Given the description of an element on the screen output the (x, y) to click on. 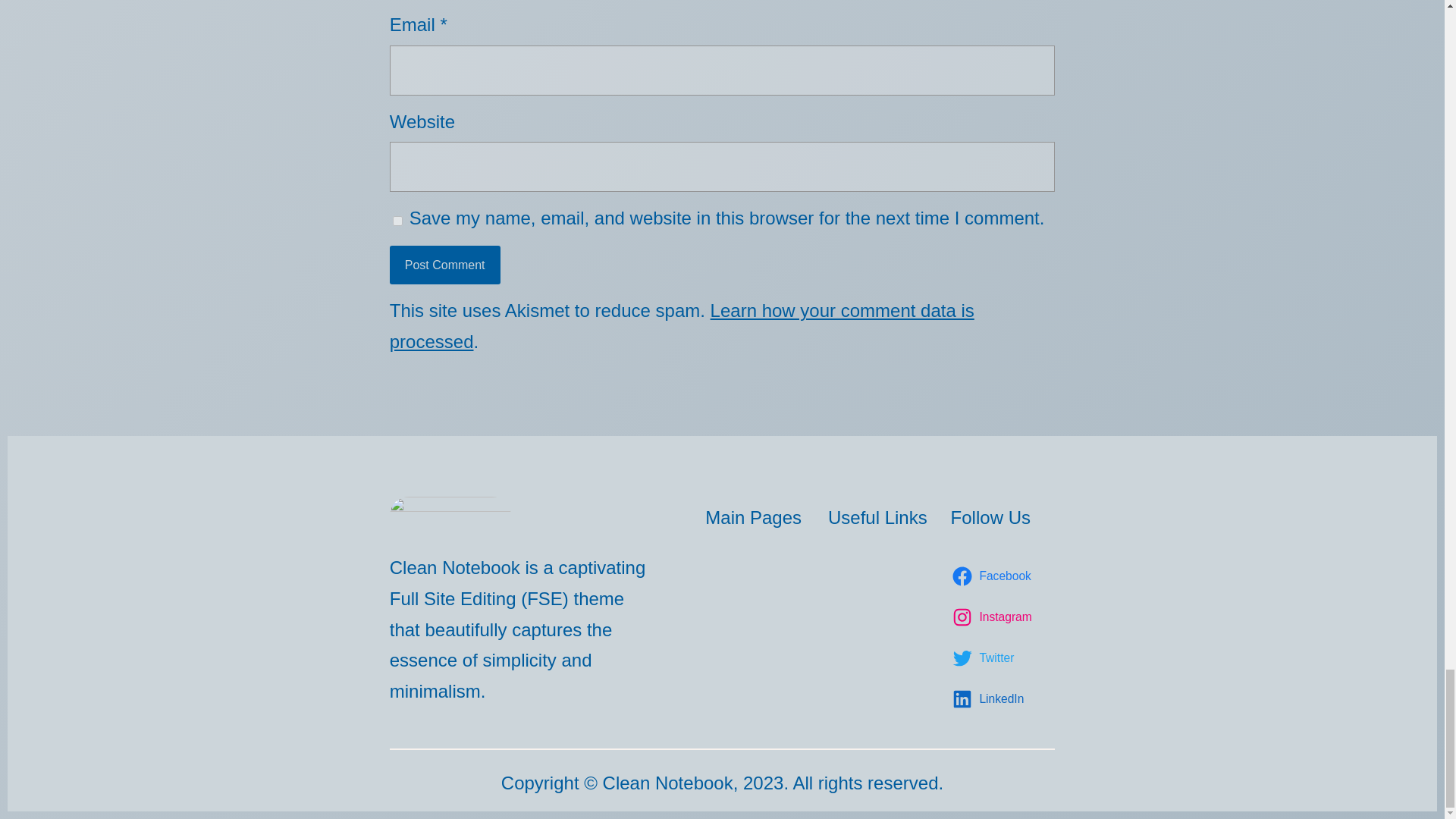
Learn how your comment data is processed (682, 326)
Twitter (985, 658)
Facebook (993, 576)
LinkedIn (990, 698)
Post Comment (445, 264)
Instagram (994, 617)
Post Comment (445, 264)
yes (398, 220)
